Given the description of an element on the screen output the (x, y) to click on. 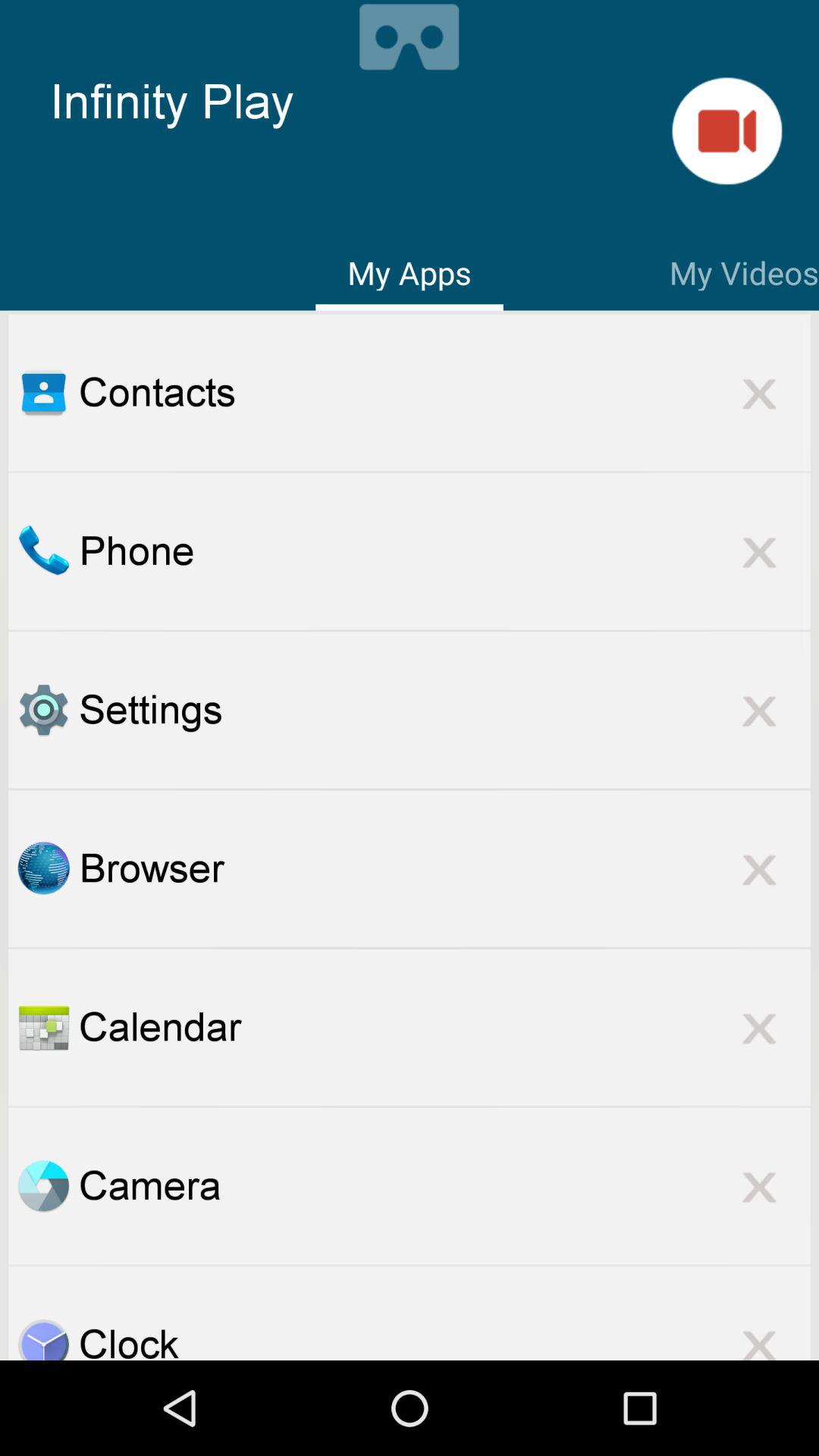
close the option (759, 1186)
